Given the description of an element on the screen output the (x, y) to click on. 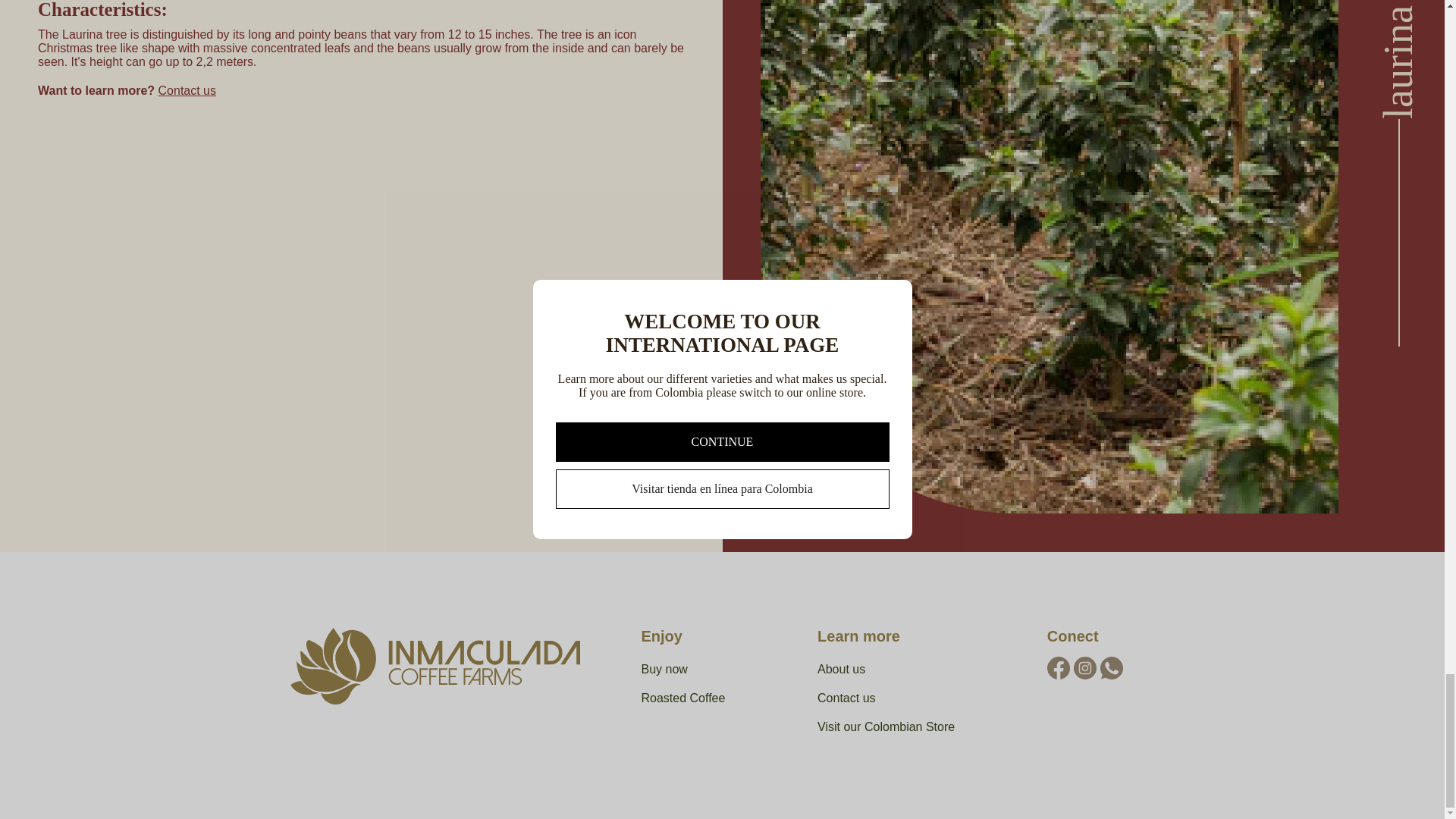
Contact us (186, 90)
About us (916, 669)
Roasted Coffee (714, 698)
Contact Us (186, 90)
Inmaculada Coffee Farms on Instagram (1085, 667)
Buy now (714, 669)
Contact us (916, 698)
Inmaculada Coffee Farms on Facebook (1058, 667)
Inmaculada Coffee Farms on Instagram (1111, 667)
Visit our Colombian Store (916, 727)
